Given the description of an element on the screen output the (x, y) to click on. 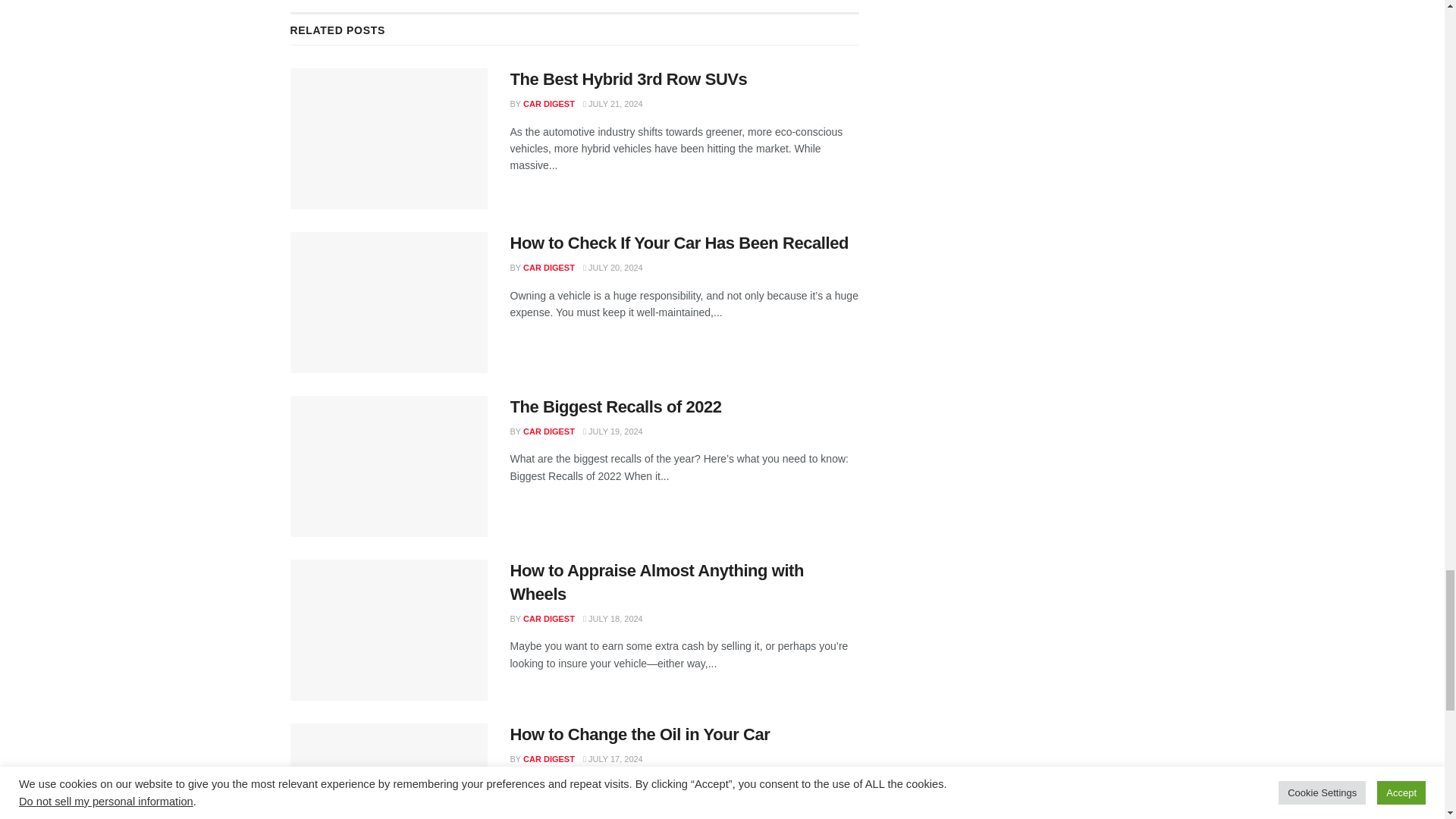
CAR DIGEST (548, 103)
JULY 21, 2024 (613, 103)
The Best Hybrid 3rd Row SUVs (627, 78)
